Given the description of an element on the screen output the (x, y) to click on. 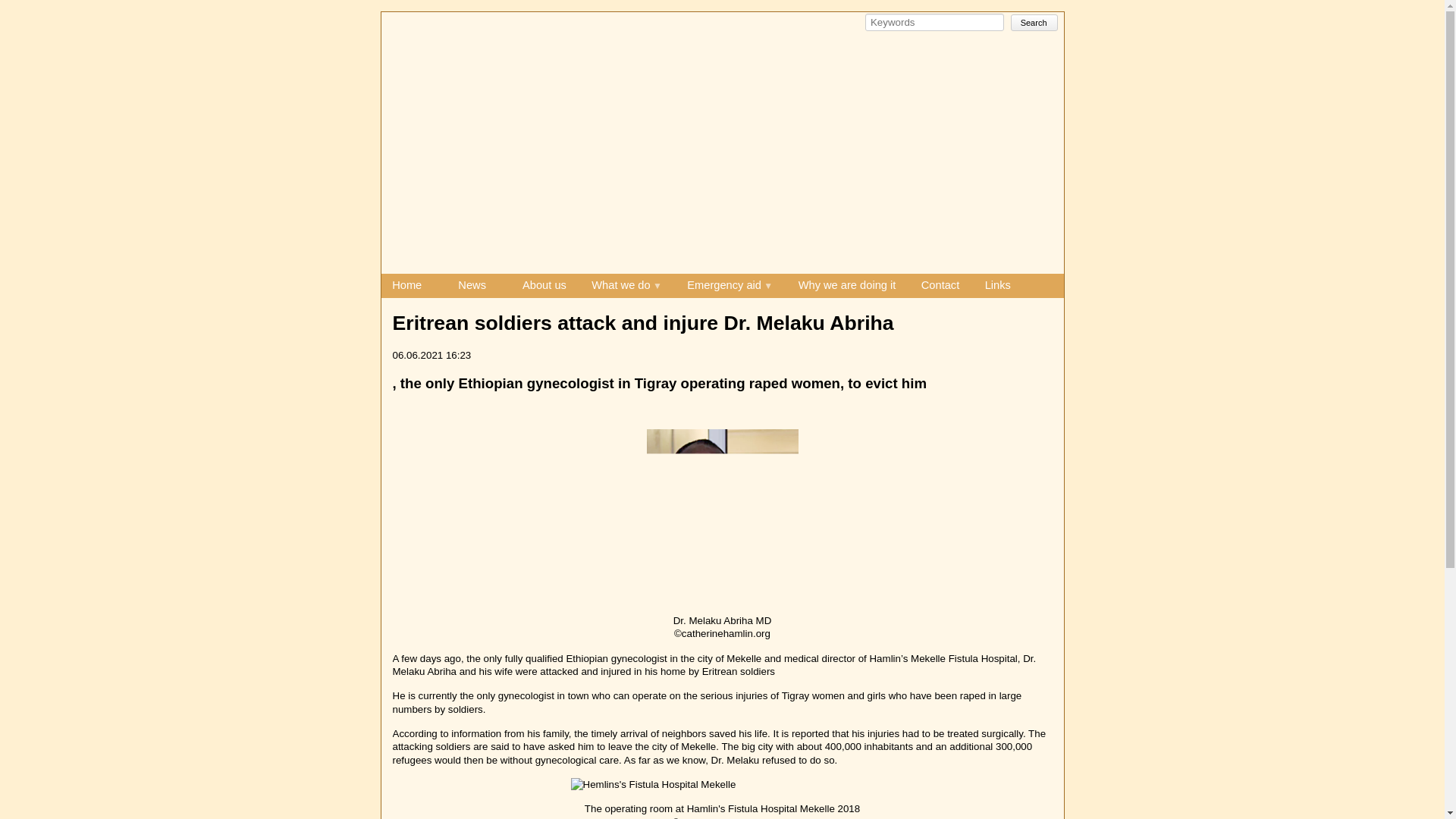
Imprint (478, 308)
Links (998, 284)
Emergency aid (730, 285)
Home (406, 284)
Search (1034, 21)
Home (406, 284)
What we do (626, 285)
Contact (940, 284)
Neuigkeiten Details (406, 19)
News (471, 284)
